Given the description of an element on the screen output the (x, y) to click on. 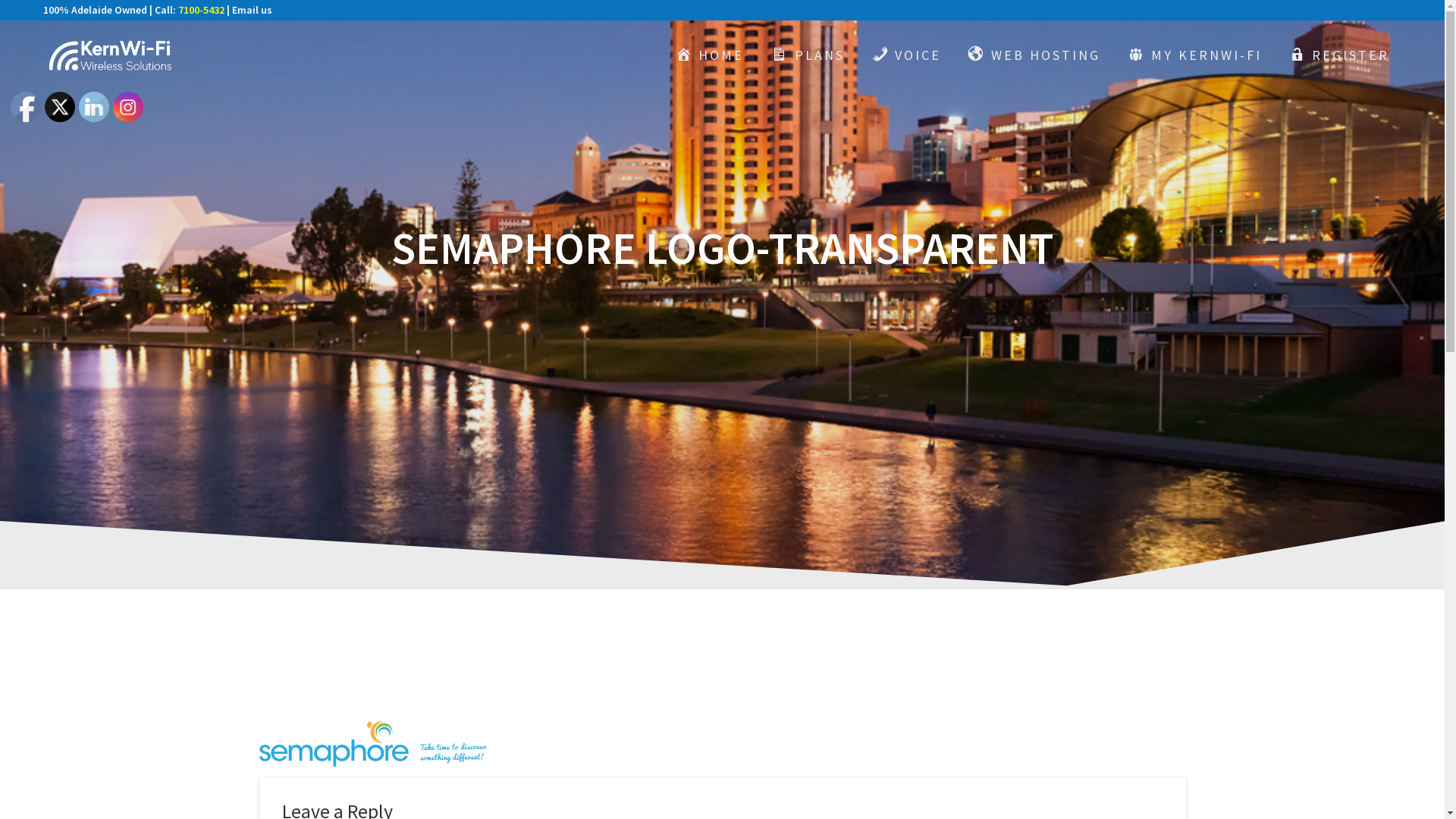
MY KERNWI-FI Element type: text (1194, 55)
PLANS Element type: text (807, 55)
HOME Element type: text (709, 55)
Instagram Element type: hover (127, 106)
VOICE Element type: text (906, 55)
Twitter Element type: hover (59, 106)
Email us Element type: text (252, 9)
WEB HOSTING Element type: text (1034, 55)
LinkedIn Element type: hover (93, 106)
REGISTER Element type: text (1339, 55)
Facebook Element type: hover (25, 106)
